Given the description of an element on the screen output the (x, y) to click on. 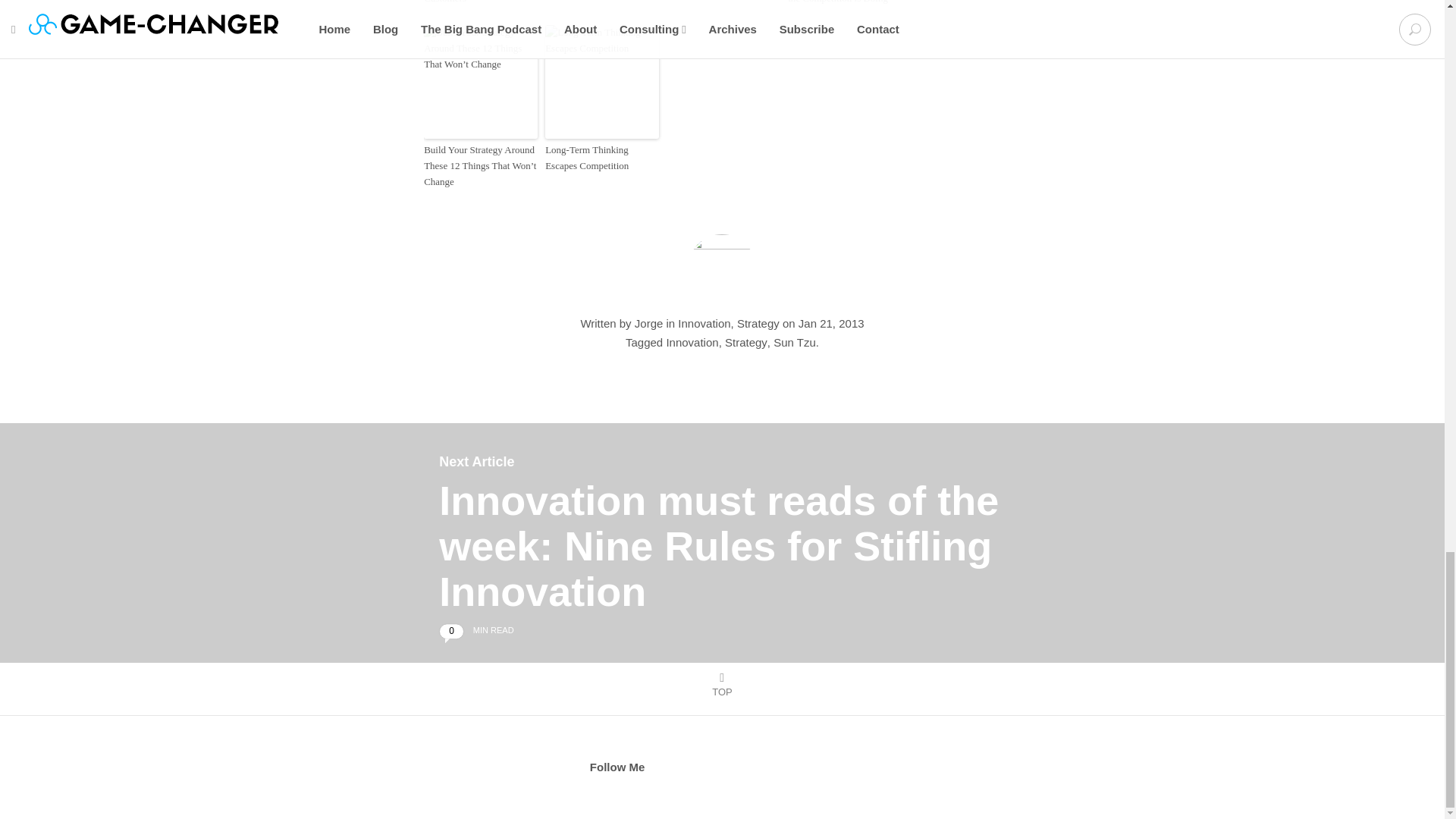
View all posts by Jorge (648, 323)
